Given the description of an element on the screen output the (x, y) to click on. 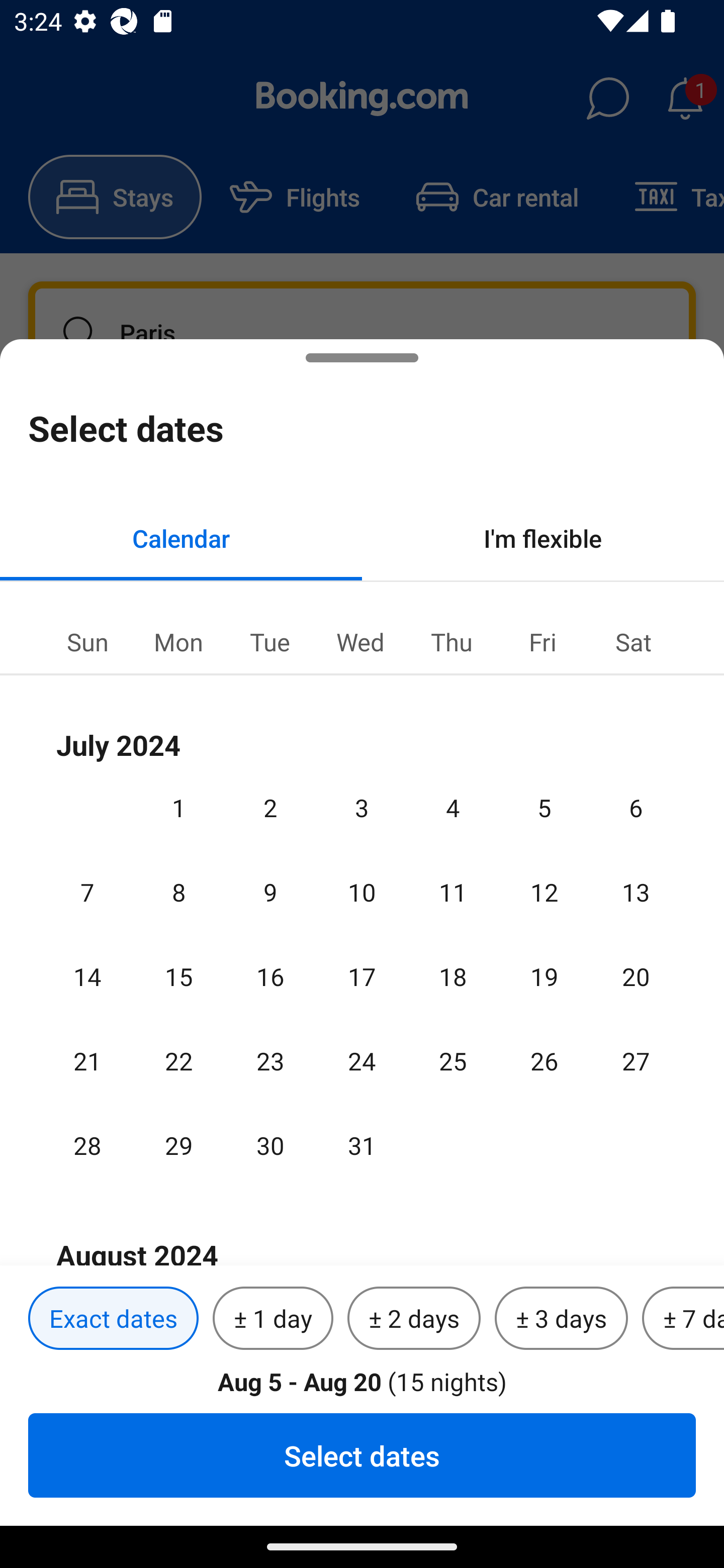
I'm flexible (543, 537)
Exact dates (113, 1318)
± 1 day (272, 1318)
± 2 days (413, 1318)
± 3 days (560, 1318)
± 7 days (683, 1318)
Select dates (361, 1454)
